Given the description of an element on the screen output the (x, y) to click on. 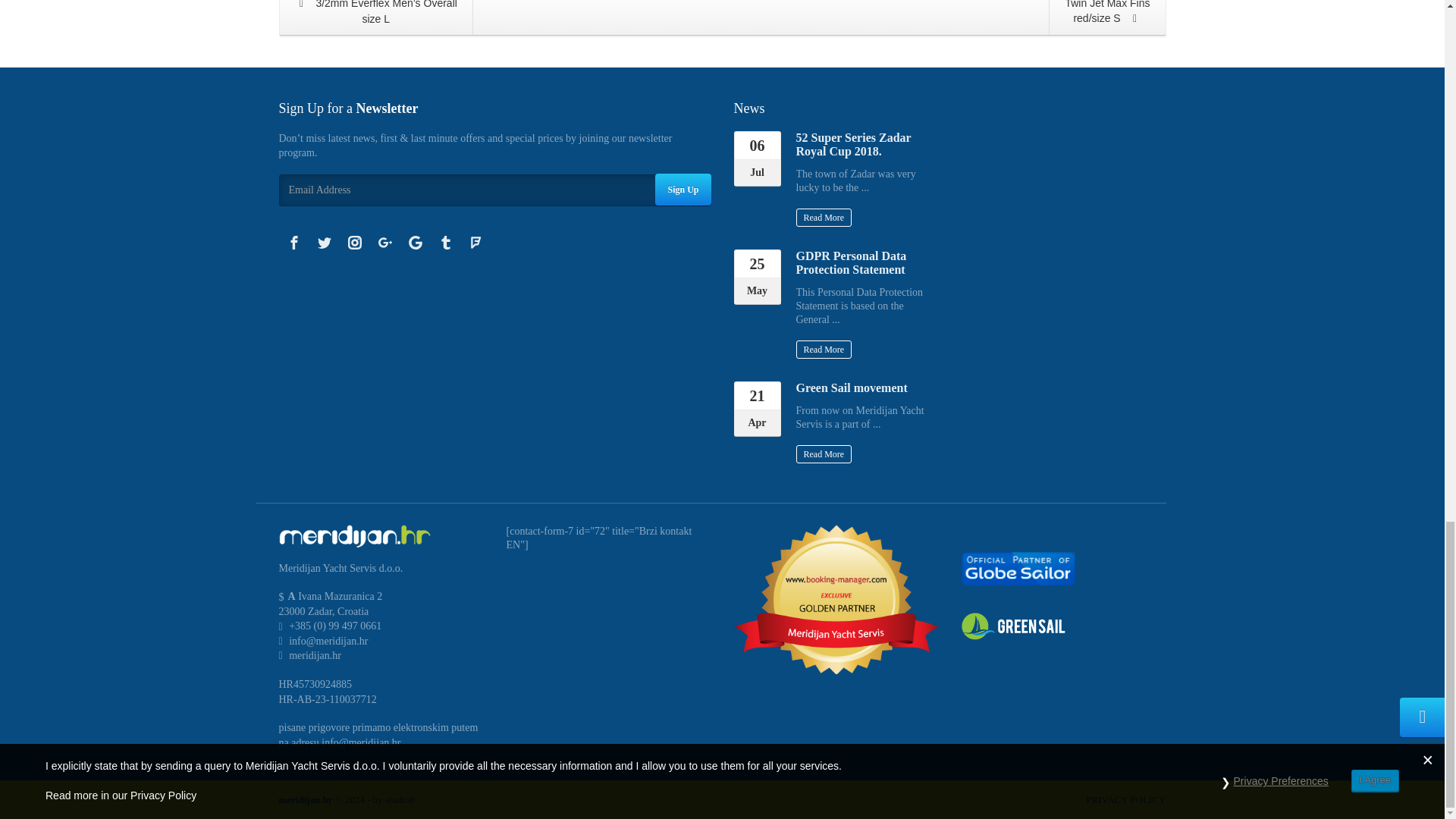
Facebook (293, 242)
Google (415, 242)
Tumblr (445, 242)
Foursquare (476, 242)
GlobeSailor (1017, 567)
Google Plus (384, 242)
Booking Manager Golden Partner (836, 599)
Twitter (323, 242)
Instagram (354, 242)
